Given the description of an element on the screen output the (x, y) to click on. 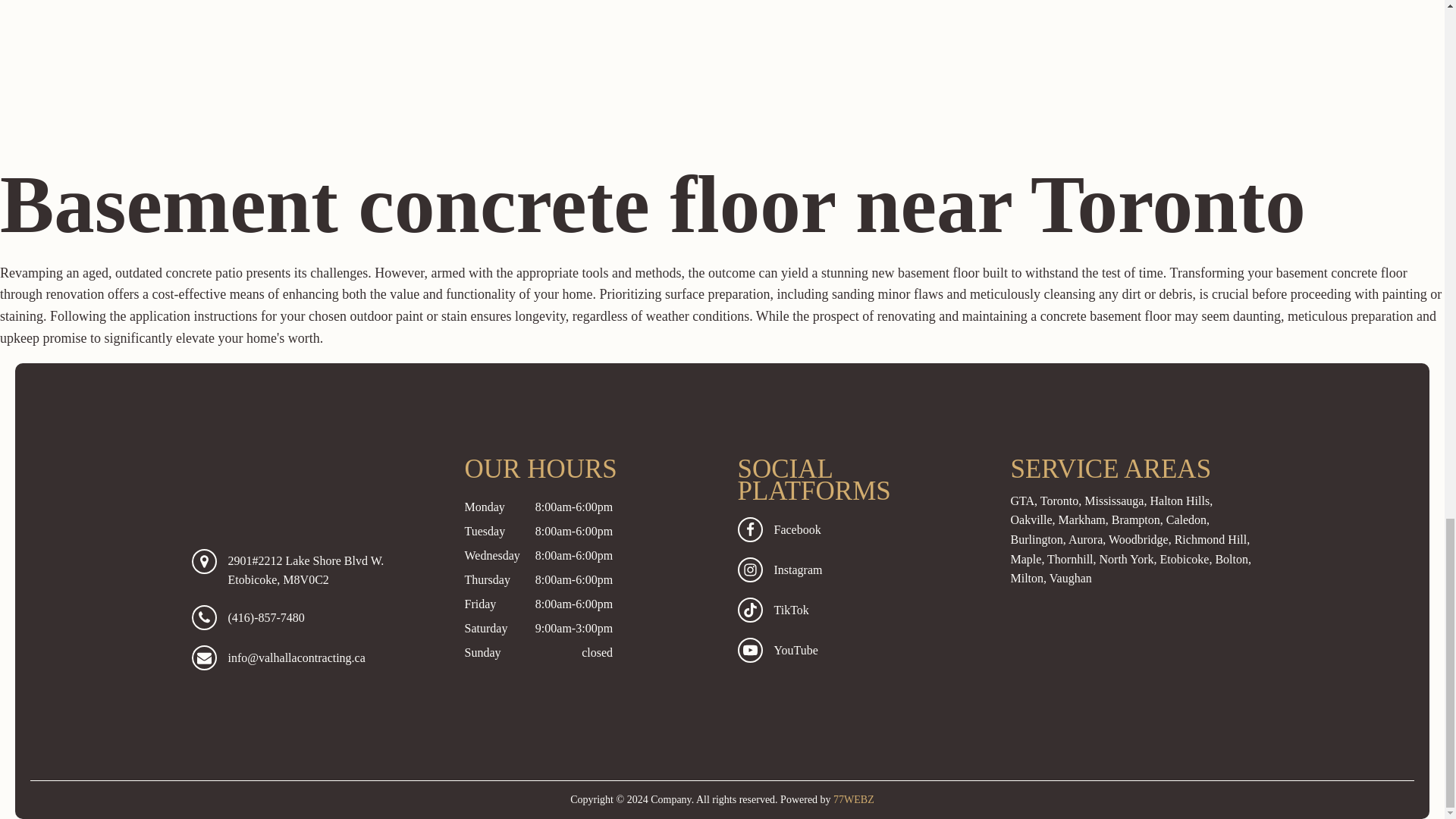
77WEBZ (853, 799)
YouTube (857, 650)
Milton website design (853, 799)
Instagram (857, 569)
TikTok (857, 609)
Facebook (857, 529)
